Given the description of an element on the screen output the (x, y) to click on. 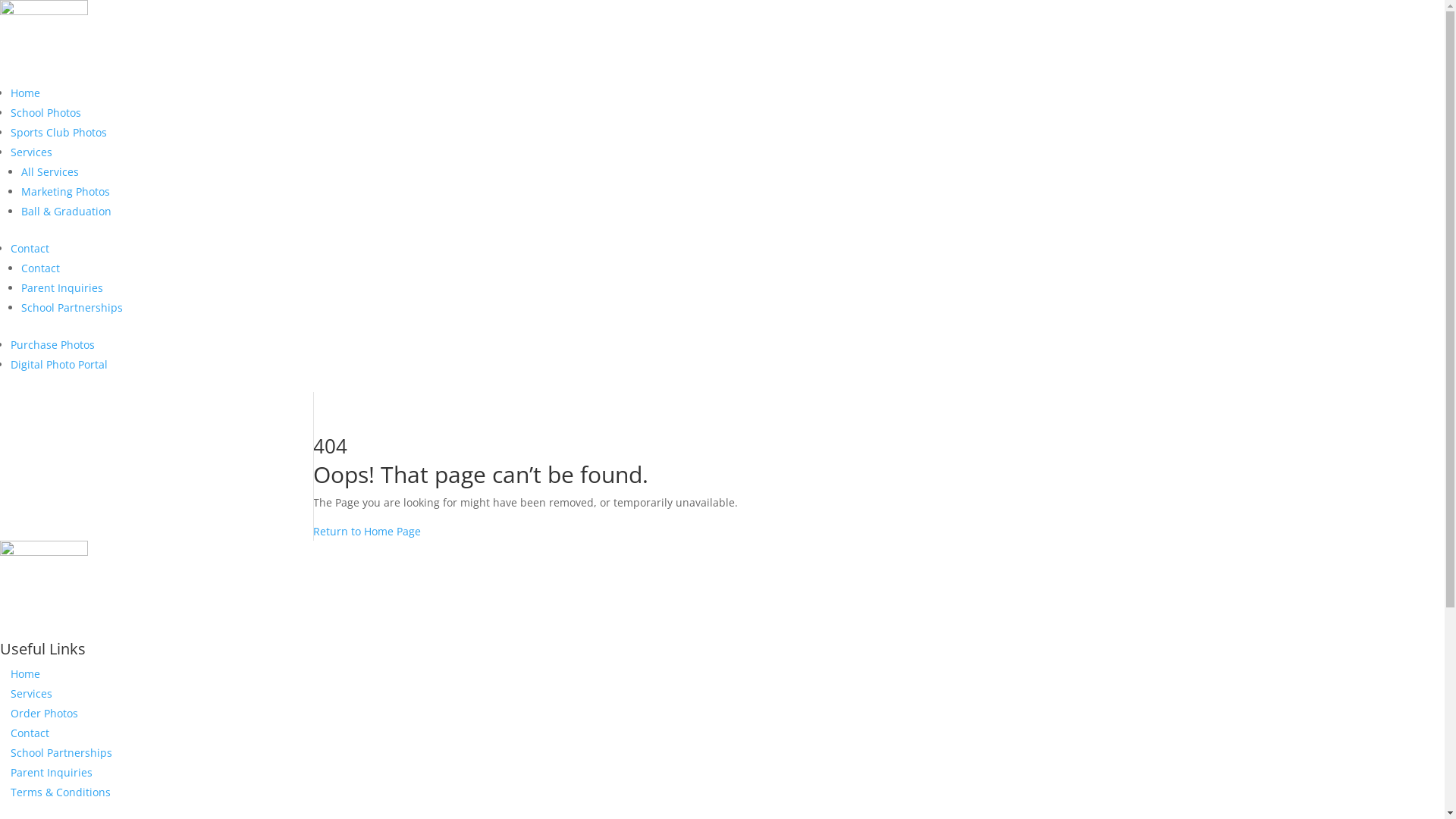
Home Element type: text (25, 673)
School Partnerships Element type: text (71, 307)
Purchase Photos Element type: text (52, 344)
Services Element type: text (31, 693)
Home Element type: text (25, 92)
Ball & Graduation Element type: text (66, 210)
Services Element type: text (31, 151)
Sports Club Photos Element type: text (58, 132)
Marketing Photos Element type: text (65, 191)
Digital Photo Portal Element type: text (58, 364)
Parent Inquiries Element type: text (51, 772)
Parent Inquiries Element type: text (62, 287)
Contact Element type: text (29, 732)
All Services Element type: text (49, 171)
3p-logo Element type: hover (43, 582)
Return to Home Page Element type: text (366, 531)
Contact Element type: text (40, 267)
Terms & Conditions Element type: text (60, 791)
Contact Element type: text (29, 248)
School Partnerships Element type: text (61, 752)
School Photos Element type: text (45, 112)
Order Photos Element type: text (44, 713)
